Given the description of an element on the screen output the (x, y) to click on. 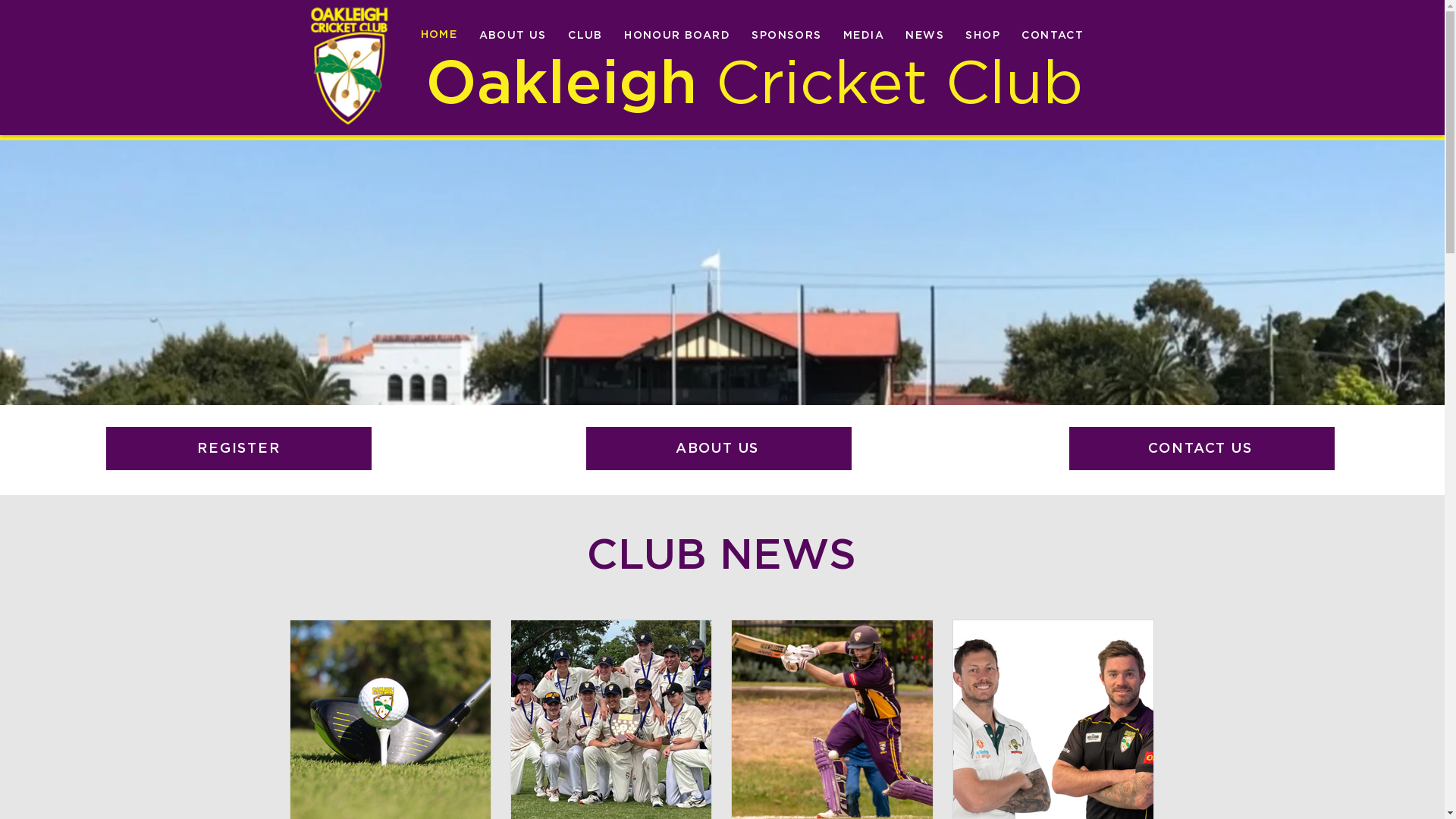
ABOUT US Element type: text (718, 448)
REGISTER Element type: text (238, 448)
HONOUR BOARD Element type: text (676, 35)
HOME Element type: text (439, 35)
NEWS Element type: text (924, 35)
ABOUT US Element type: text (512, 35)
SHOP Element type: text (982, 35)
CONTACT US Element type: text (1201, 448)
CONTACT Element type: text (1052, 35)
Oakleigh Cricket Club Element type: hover (348, 65)
SPONSORS Element type: text (786, 35)
